Given the description of an element on the screen output the (x, y) to click on. 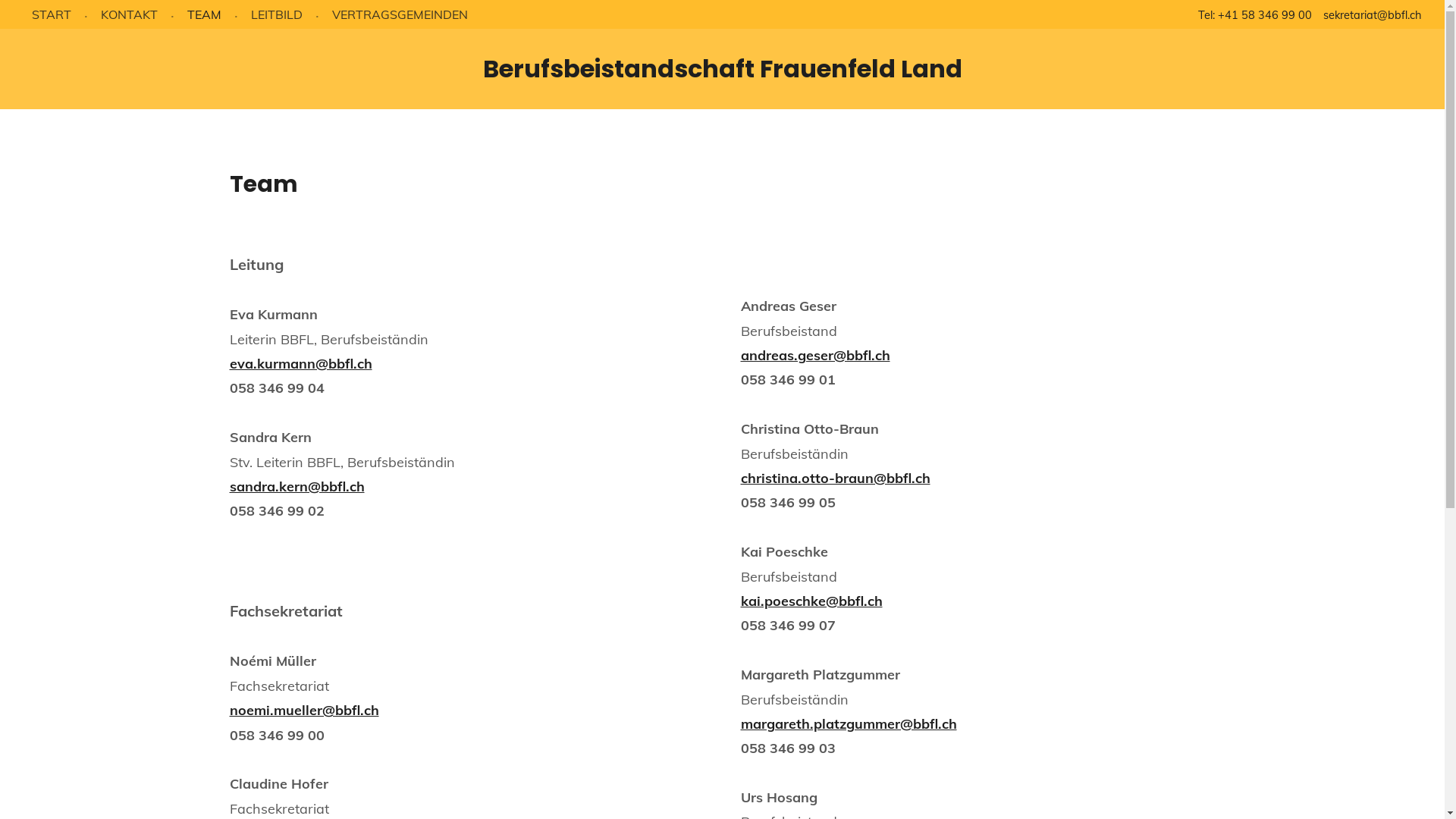
eva.kurmann@bbfl.ch Element type: text (300, 363)
TEAM Element type: text (204, 14)
KONTAKT Element type: text (128, 14)
Tel: +41 58 346 99 00 Element type: text (1254, 14)
christina.otto-braun@bbfl.ch Element type: text (834, 477)
VERTRAGSGEMEINDEN Element type: text (399, 14)
sandra.kern@bbfl.ch Element type: text (296, 486)
sekretariat@bbfl.ch Element type: text (1372, 14)
START Element type: text (51, 14)
noemi.mueller@bbfl.ch Element type: text (303, 709)
kai.poeschke@bbfl.ch Element type: text (810, 600)
LEITBILD Element type: text (276, 14)
andreas.geser@bbfl.ch Element type: text (814, 355)
Berufsbeistandschaft Frauenfeld Land Element type: text (721, 68)
margareth.platzgummer@bbfl.ch Element type: text (848, 723)
